Given the description of an element on the screen output the (x, y) to click on. 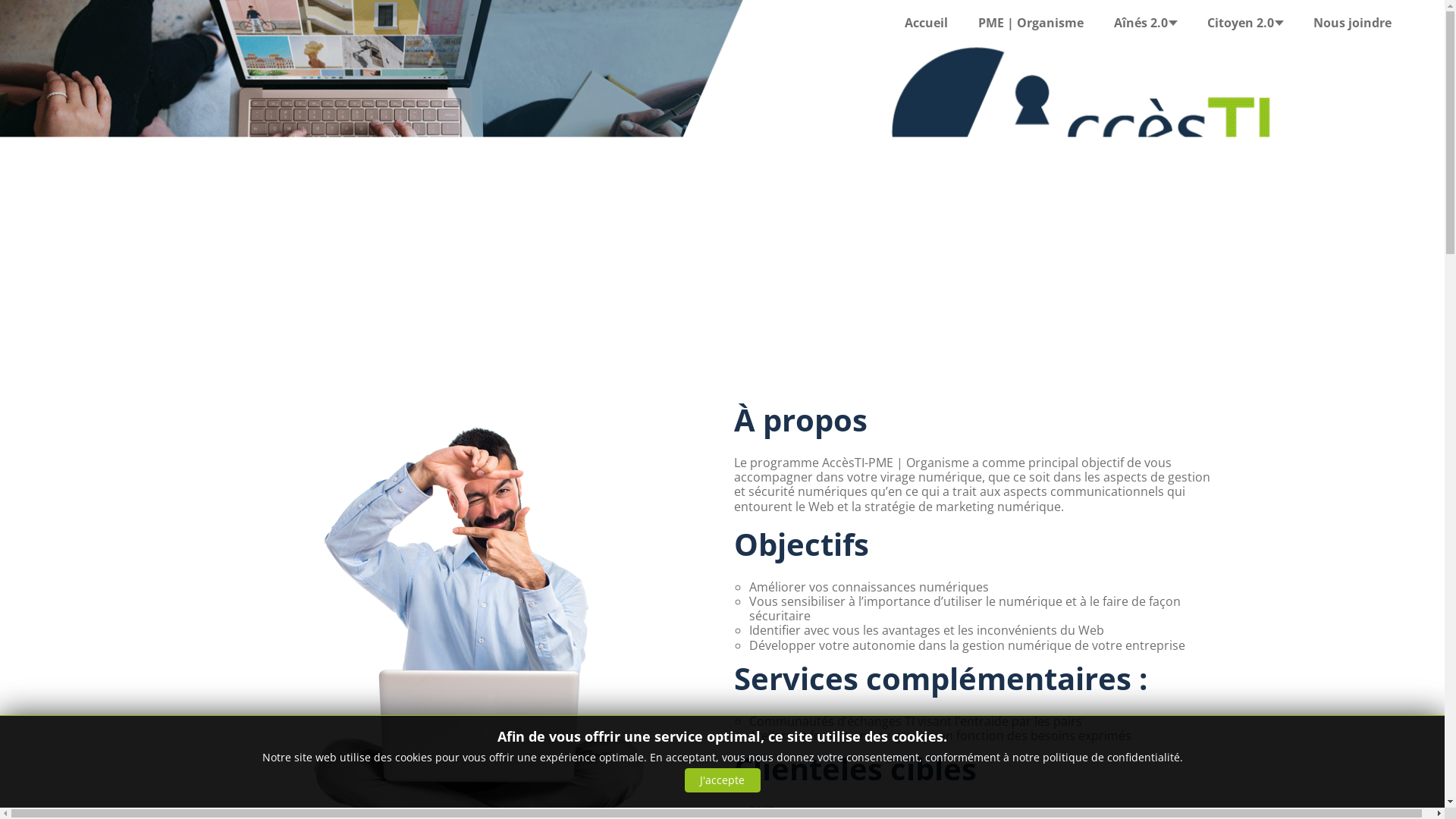
Nous joindre Element type: text (1352, 23)
PME | Organisme Element type: text (1030, 23)
Accueil Element type: text (925, 23)
Citoyen 2.0 Element type: text (1245, 23)
